Given the description of an element on the screen output the (x, y) to click on. 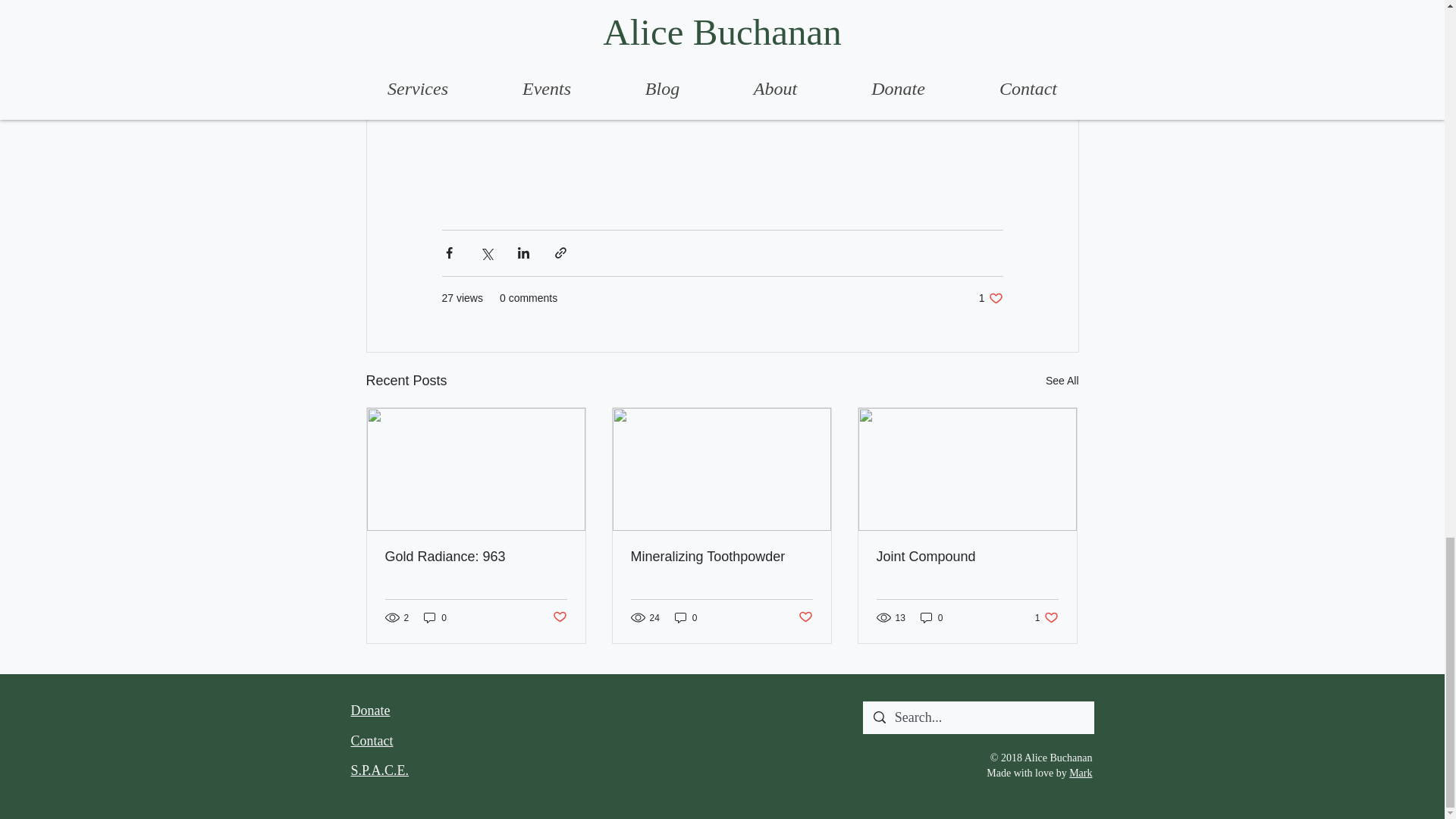
Mineralizing Toothpowder (721, 556)
Contact (371, 740)
Post not marked as liked (558, 617)
0 (435, 617)
Donate (370, 710)
Joint Compound (967, 556)
See All (1061, 381)
S.P.A.C.E. (379, 770)
Mark (1046, 617)
